Given the description of an element on the screen output the (x, y) to click on. 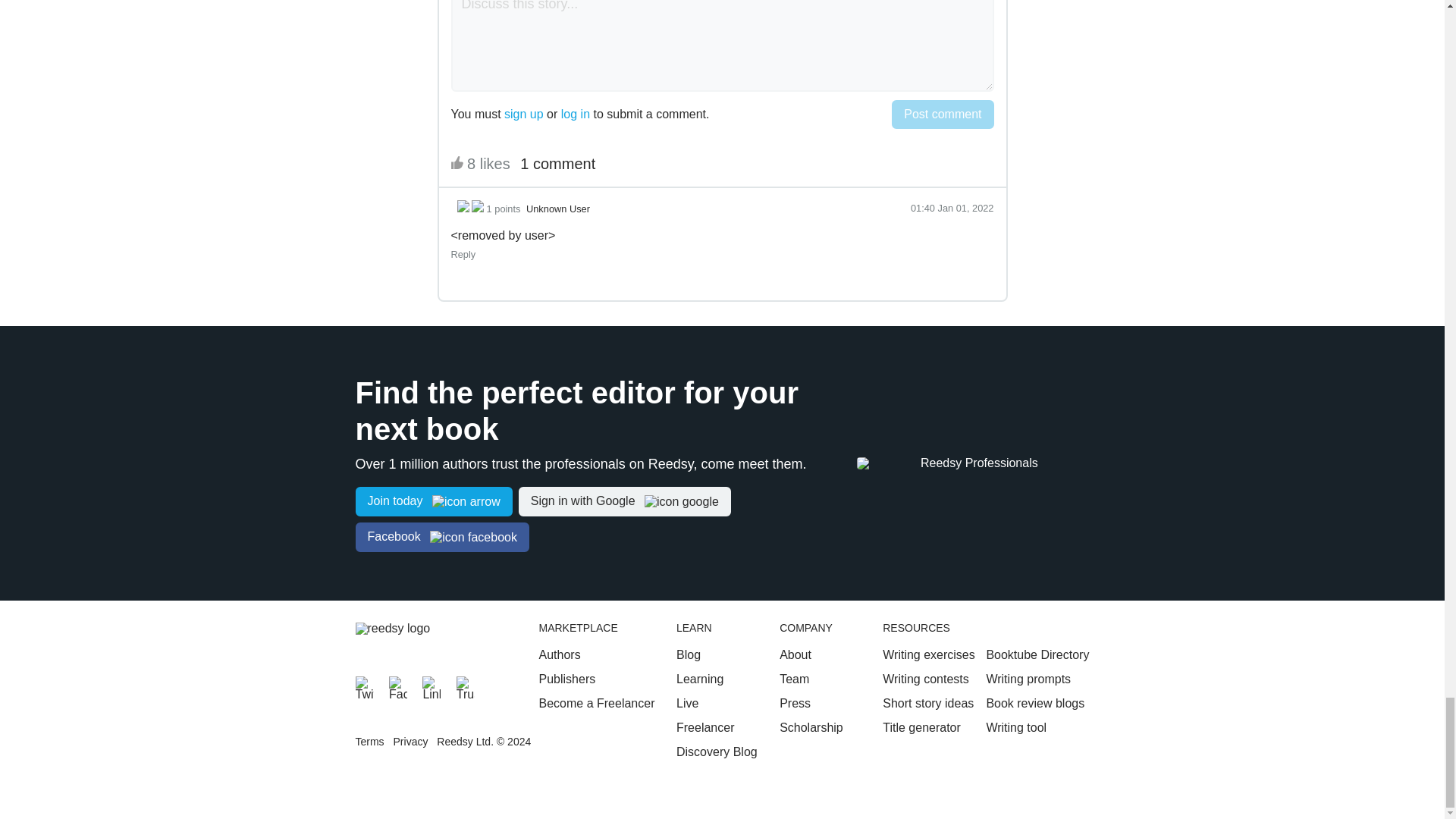
Facebook (397, 685)
Trustpilot (465, 685)
Sign in with Google (624, 501)
Sign in with Facebook (441, 537)
LinkedIn (431, 685)
Post comment (941, 113)
Sign up (433, 501)
Twitter (363, 685)
